Given the description of an element on the screen output the (x, y) to click on. 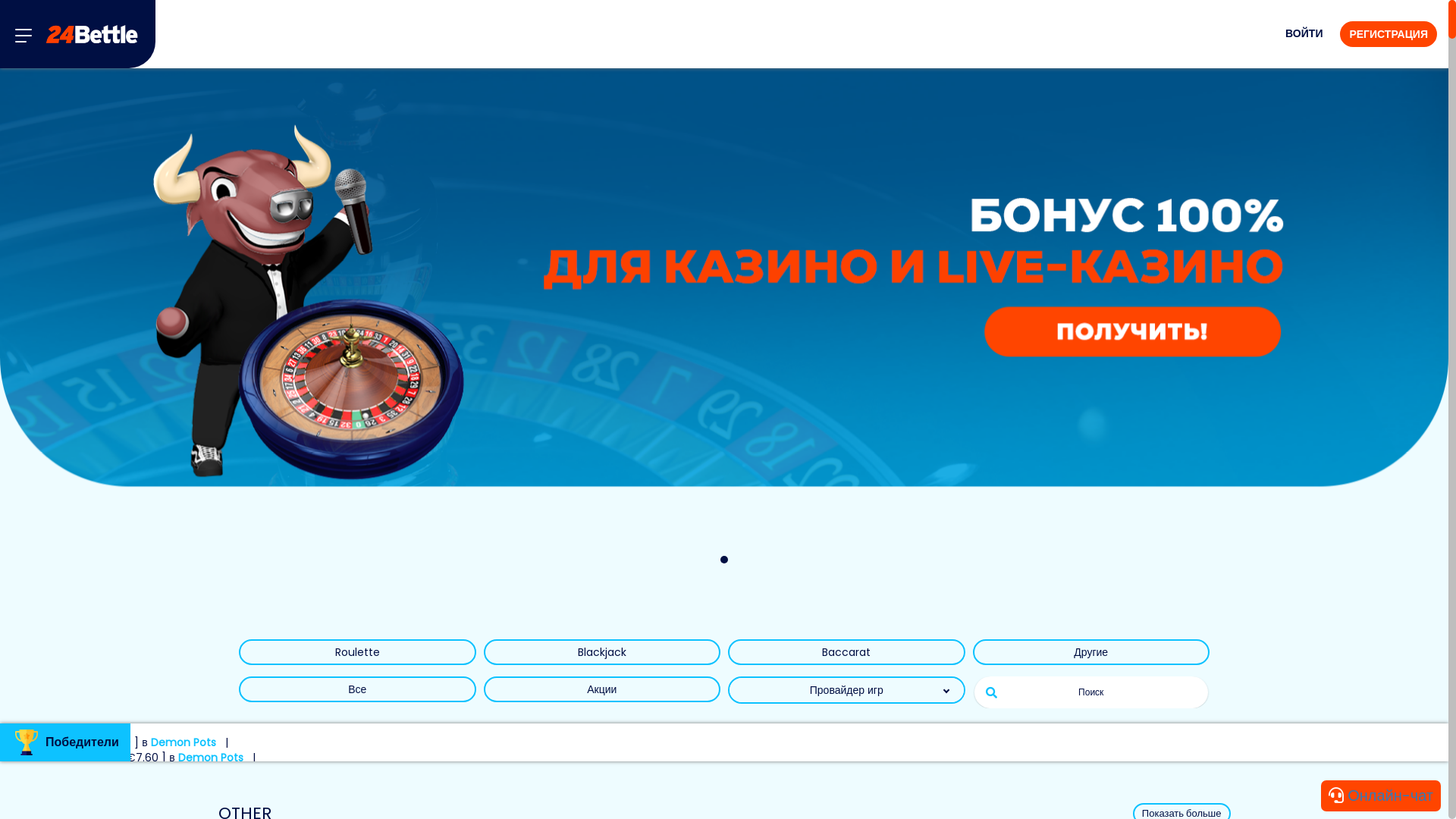
Demon Pots Element type: text (183, 741)
24Bettle Element type: hover (91, 34)
Banner link Element type: hover (724, 319)
Blackjack Element type: text (602, 651)
Baccarat Element type: text (846, 651)
Roulette Element type: text (357, 651)
Demon Pots Element type: text (210, 756)
